Given the description of an element on the screen output the (x, y) to click on. 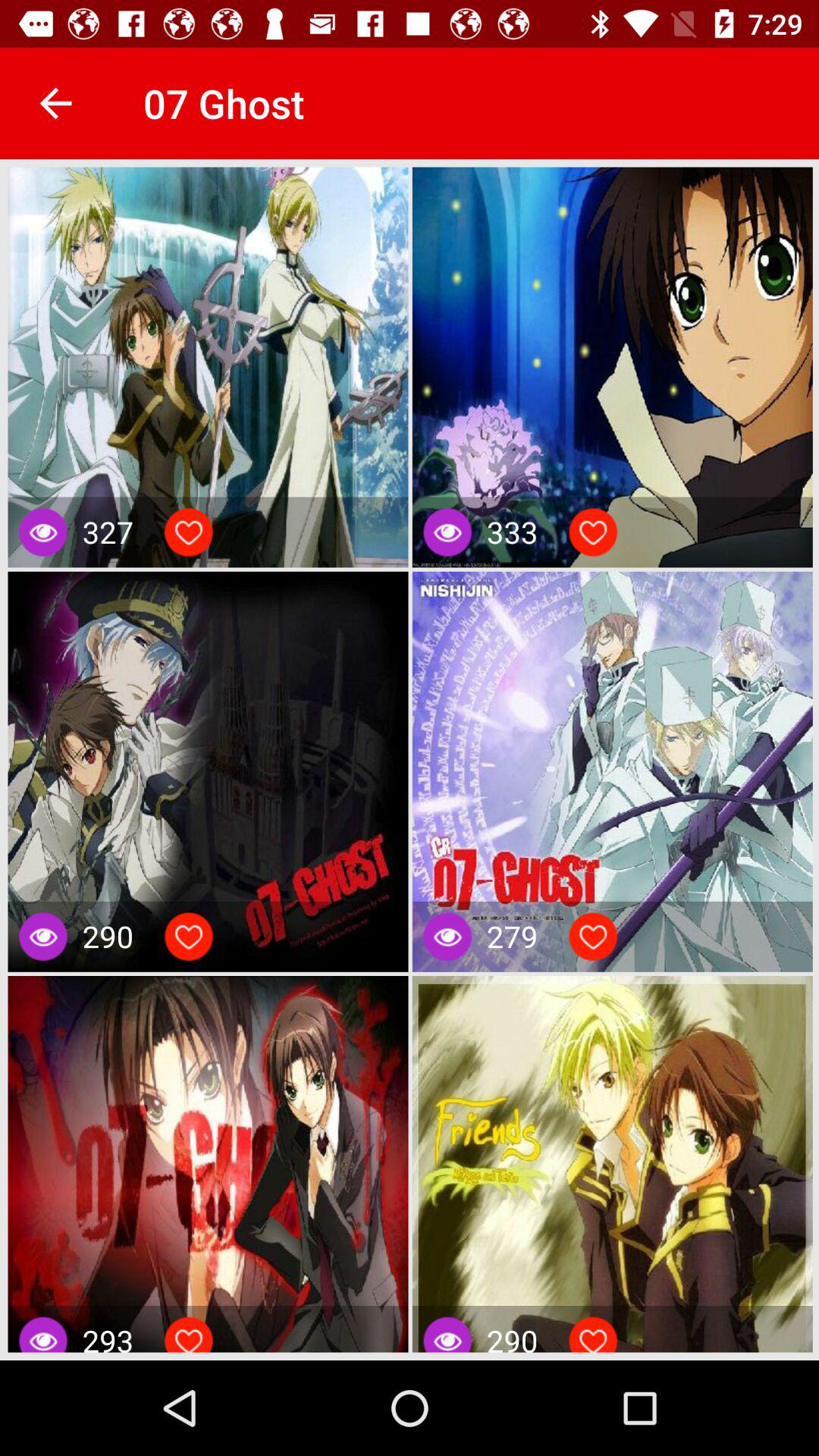
mark favorite (188, 936)
